Given the description of an element on the screen output the (x, y) to click on. 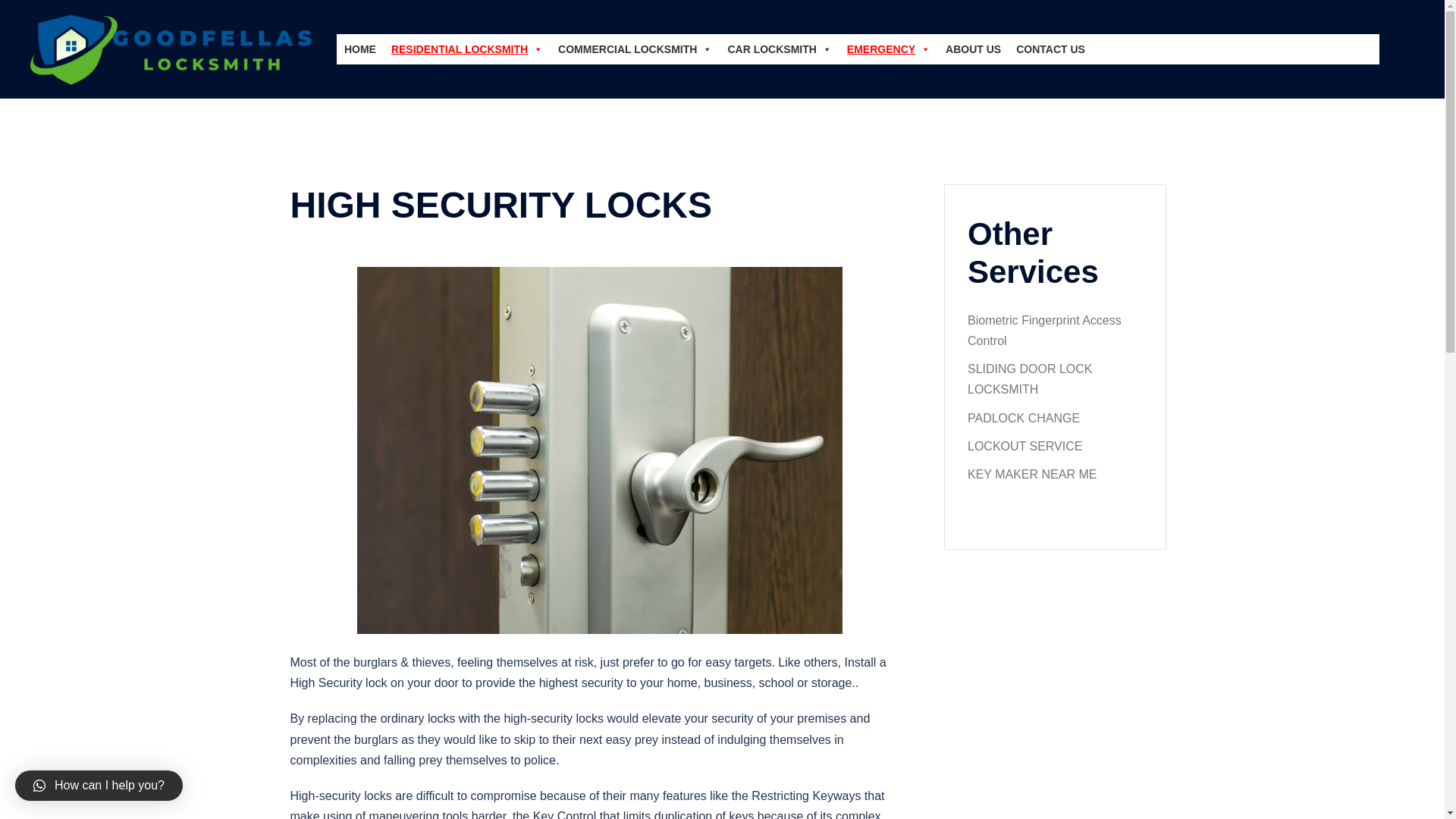
COMMERCIAL LOCKSMITH (634, 49)
RESIDENTIAL LOCKSMITH (467, 49)
Goodfellas LockSmith (172, 47)
CAR LOCKSMITH (778, 49)
HOME (360, 49)
